Given the description of an element on the screen output the (x, y) to click on. 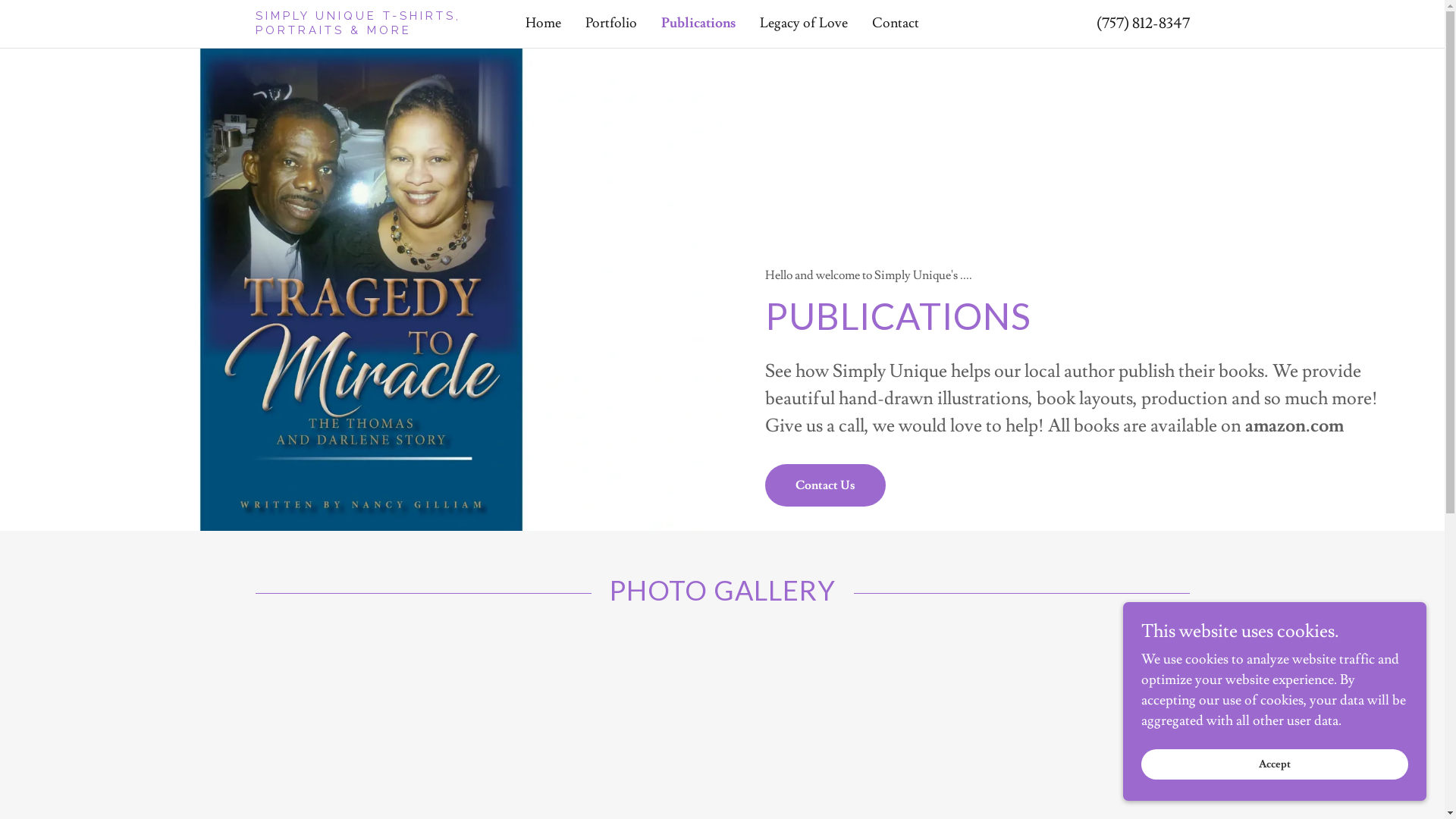
(757) 812-8347 Element type: text (1142, 23)
Legacy of Love Element type: text (803, 23)
Contact Element type: text (895, 23)
Contact Us Element type: text (824, 485)
Accept Element type: text (1274, 764)
SIMPLY UNIQUE T-SHIRTS, PORTRAITS & MORE Element type: text (371, 29)
Portfolio Element type: text (610, 23)
Publications Element type: text (698, 23)
Home Element type: text (542, 23)
